Given the description of an element on the screen output the (x, y) to click on. 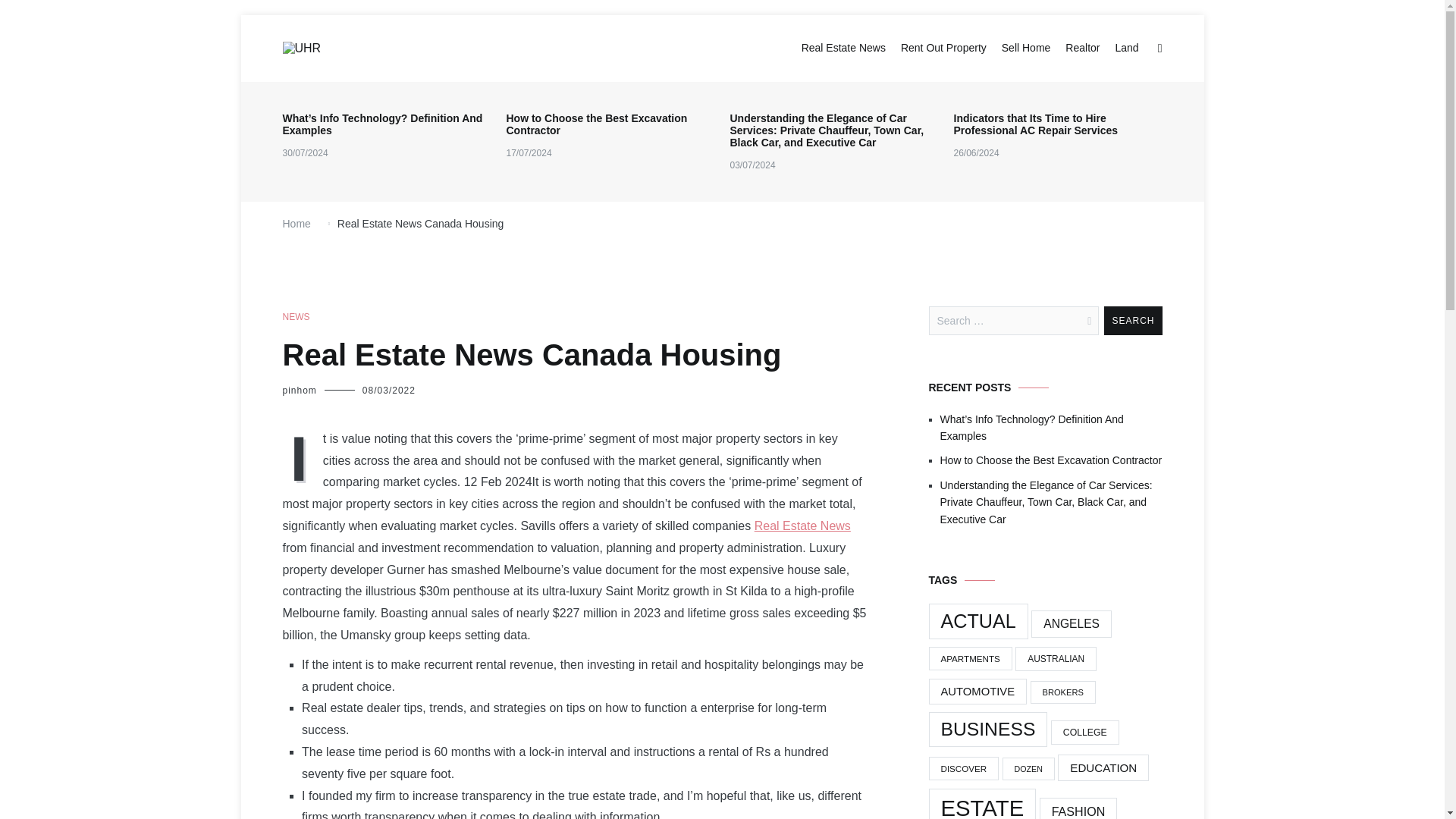
AUTOMOTIVE (977, 691)
Realtor (1082, 48)
Search (1132, 320)
Sell Home (1026, 48)
Land (1126, 48)
Rent Out Property (944, 48)
ANGELES (1071, 624)
BROKERS (1063, 691)
APARTMENTS (969, 658)
AUSTRALIAN (1055, 658)
How to Choose the Best Excavation Contractor (610, 124)
